Given the description of an element on the screen output the (x, y) to click on. 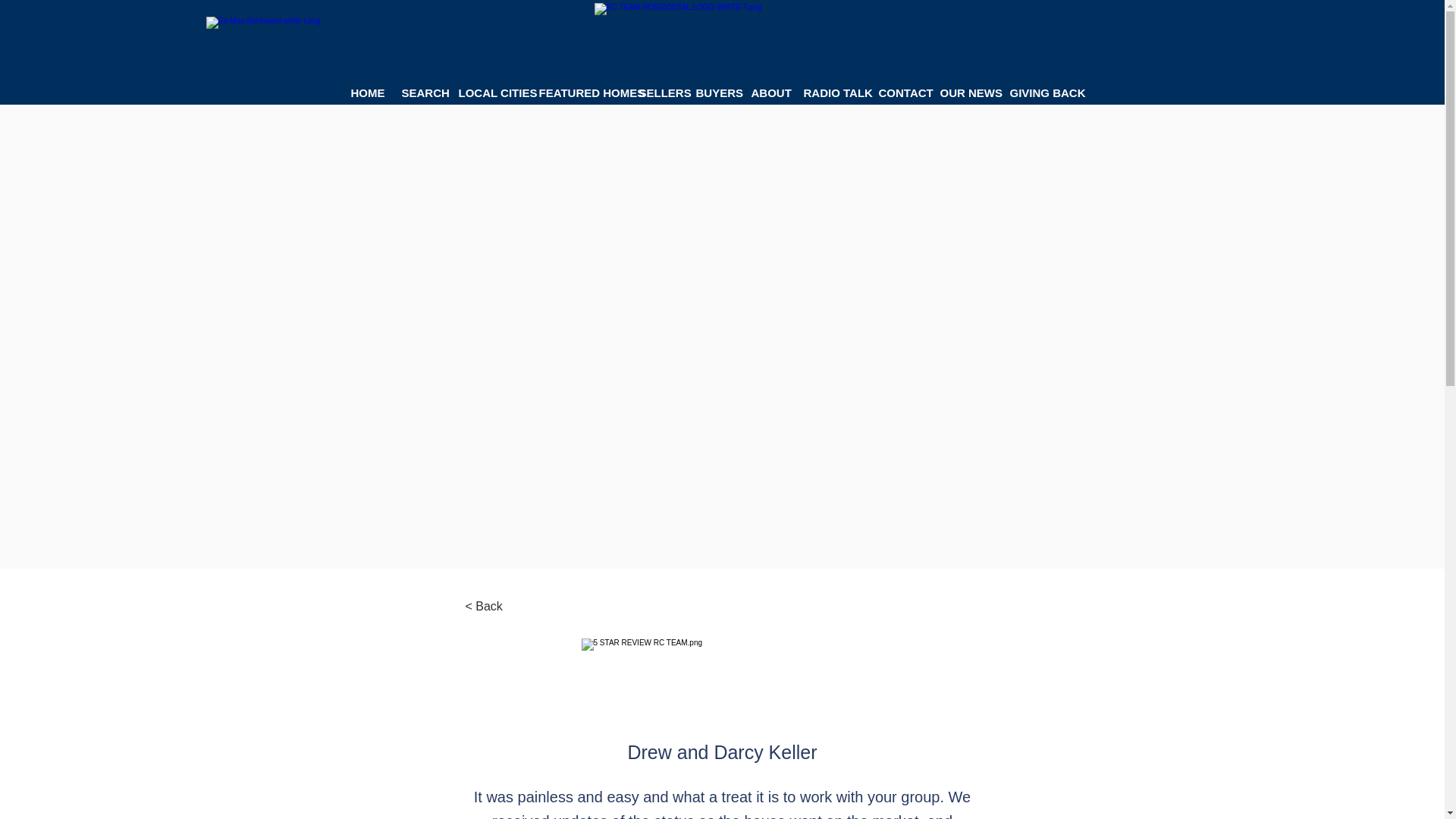
FEATURED HOMES (577, 92)
SELLERS (655, 92)
CONTACT (897, 92)
HOME (364, 92)
OUR NEWS (962, 92)
LOCAL CITIES (486, 92)
BUYERS (711, 92)
SEARCH (418, 92)
RADIO TALK (829, 92)
ABOUT (765, 92)
